Given the description of an element on the screen output the (x, y) to click on. 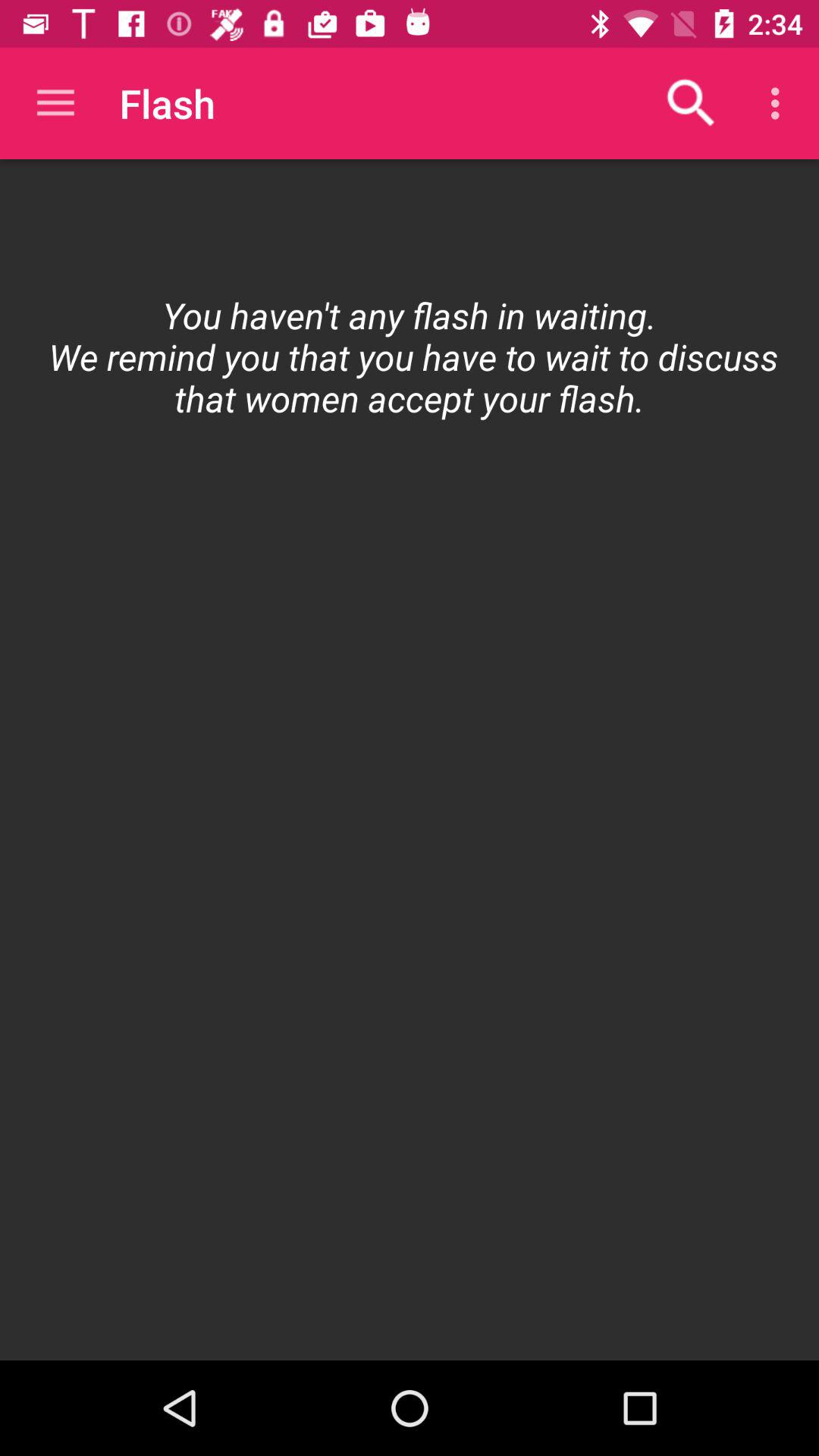
turn off item to the left of flash item (55, 103)
